Given the description of an element on the screen output the (x, y) to click on. 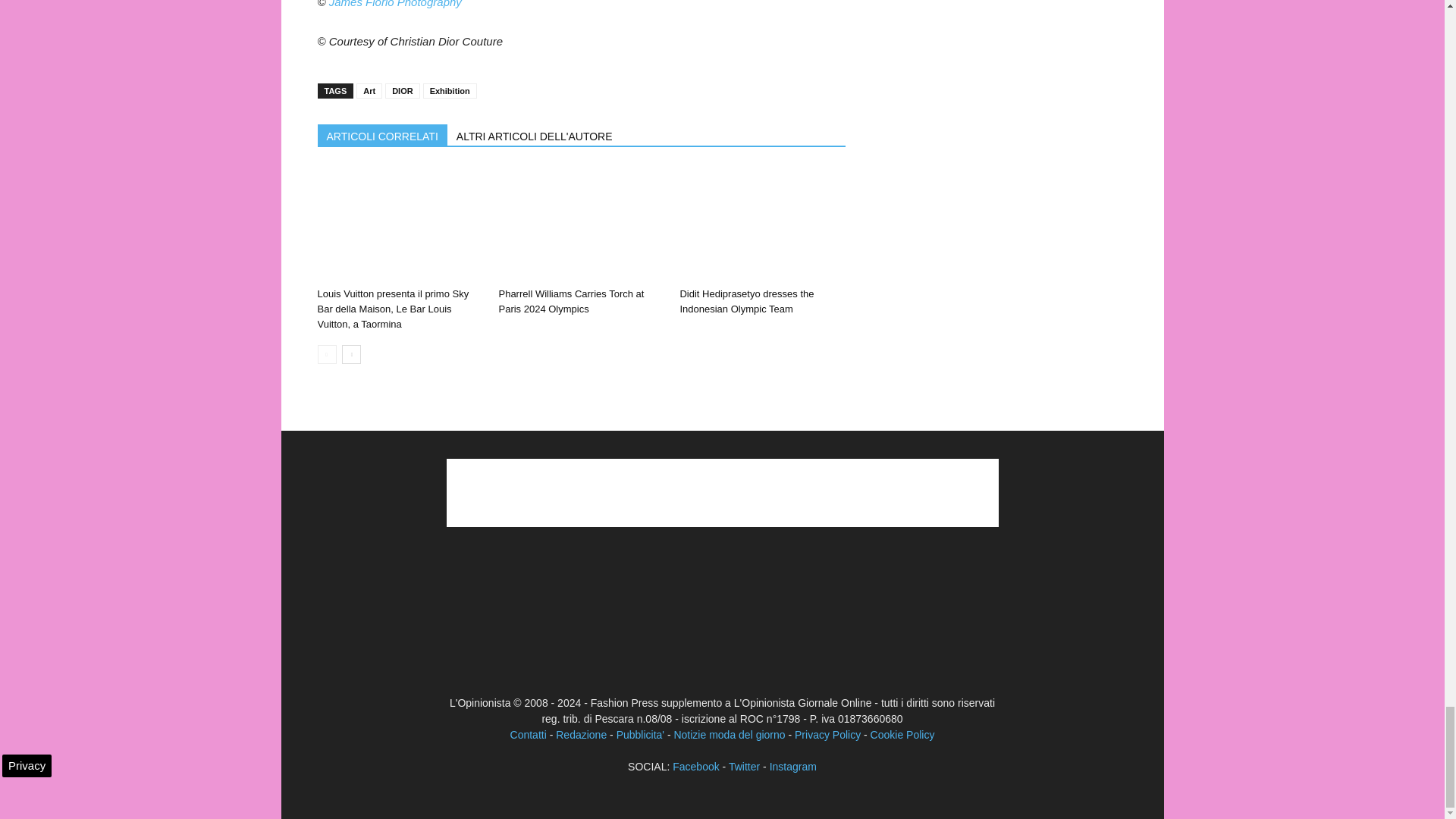
Art (368, 90)
DIOR (402, 90)
Pharrell Williams Carries Torch at Paris 2024 Olympics (570, 301)
James Florio Photography (395, 4)
Exhibition (450, 90)
Pharrell Williams Carries Torch at Paris 2024 Olympics (580, 224)
